Given the description of an element on the screen output the (x, y) to click on. 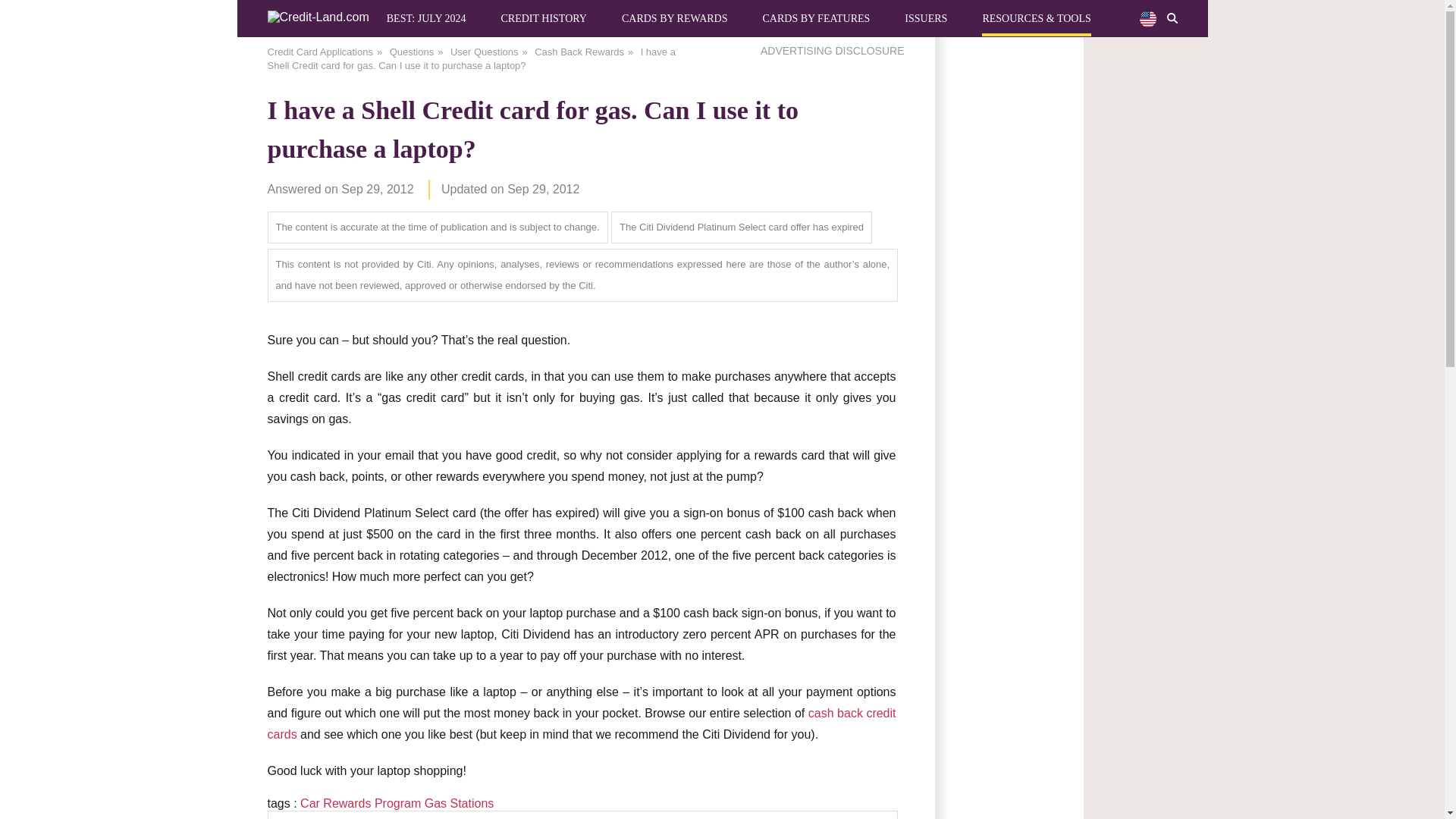
BEST: JULY 2024 (426, 18)
CREDIT HISTORY (543, 18)
CARDS BY REWARDS (674, 18)
CARDS BY FEATURES (815, 18)
